Given the description of an element on the screen output the (x, y) to click on. 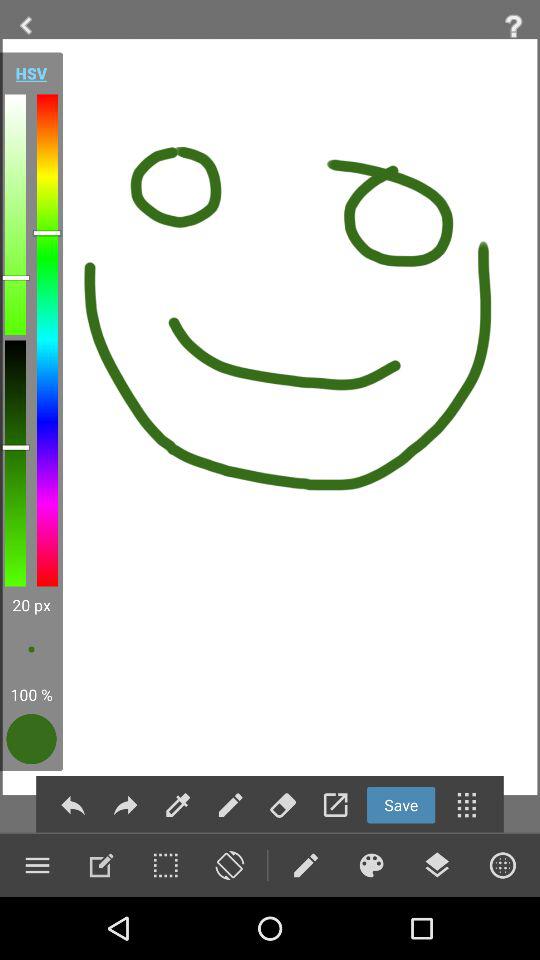
rotate screen (229, 865)
